Given the description of an element on the screen output the (x, y) to click on. 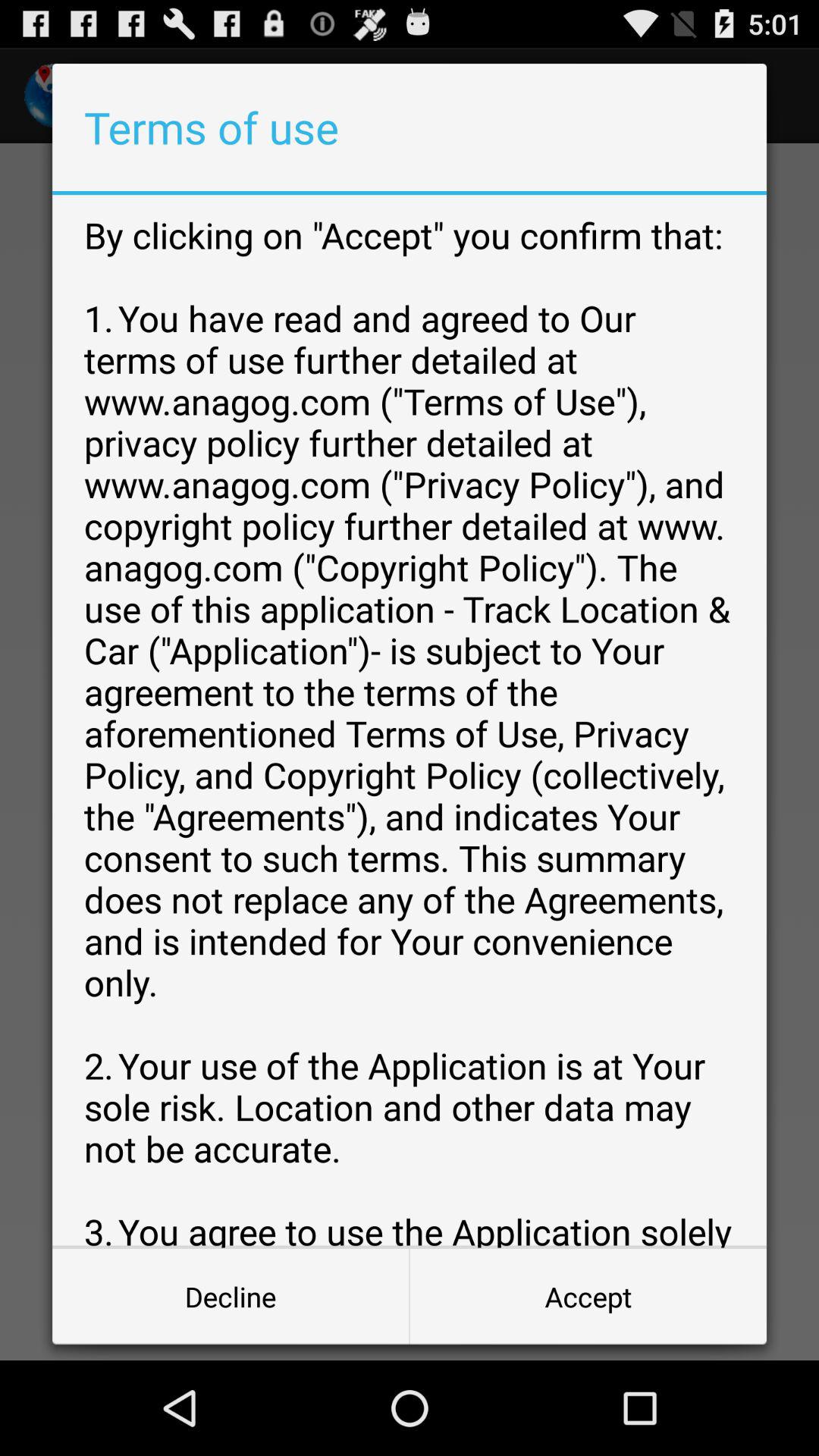
click the app below the by clicking on (230, 1296)
